Given the description of an element on the screen output the (x, y) to click on. 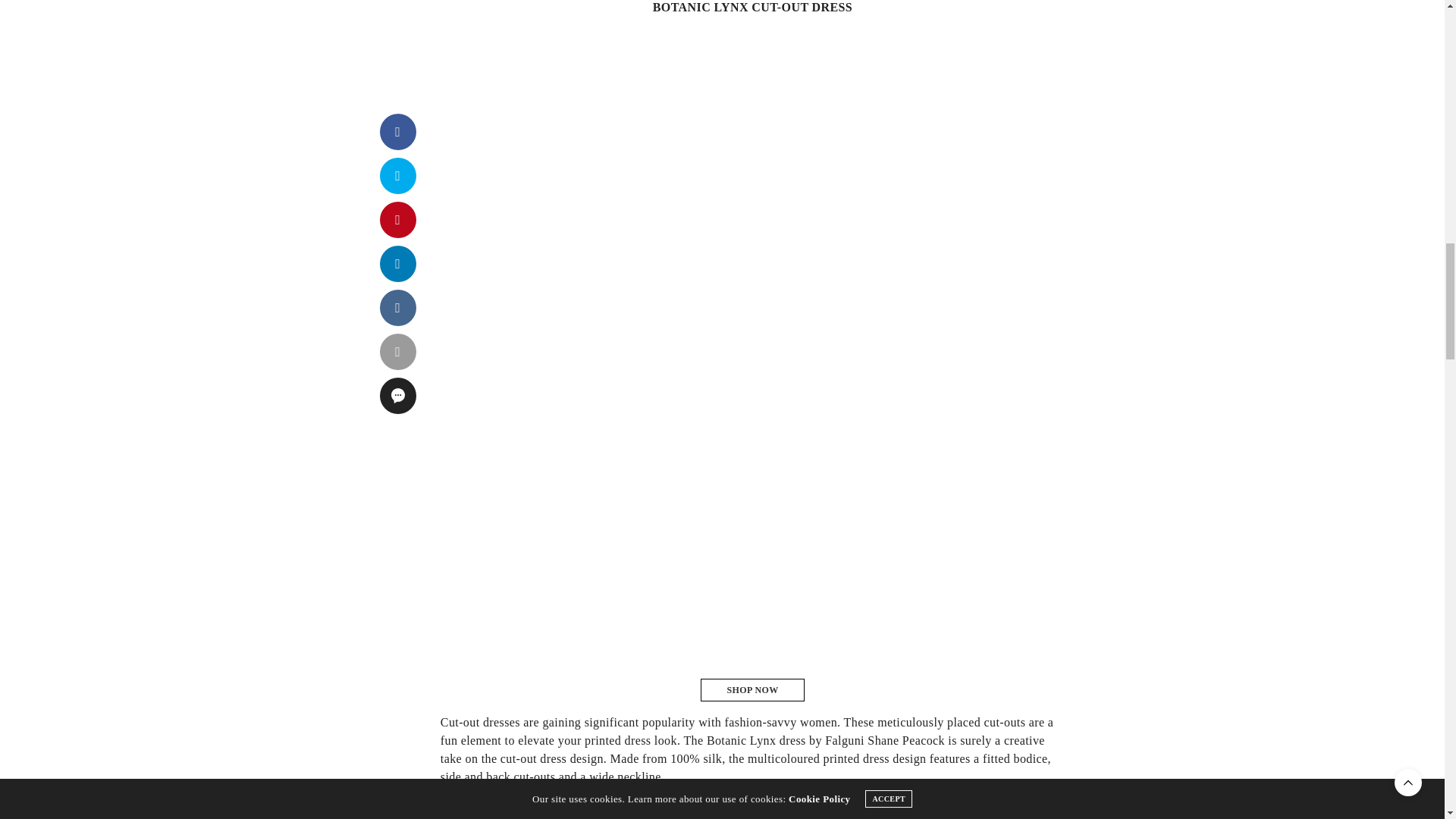
SHOP NOW (751, 689)
